Given the description of an element on the screen output the (x, y) to click on. 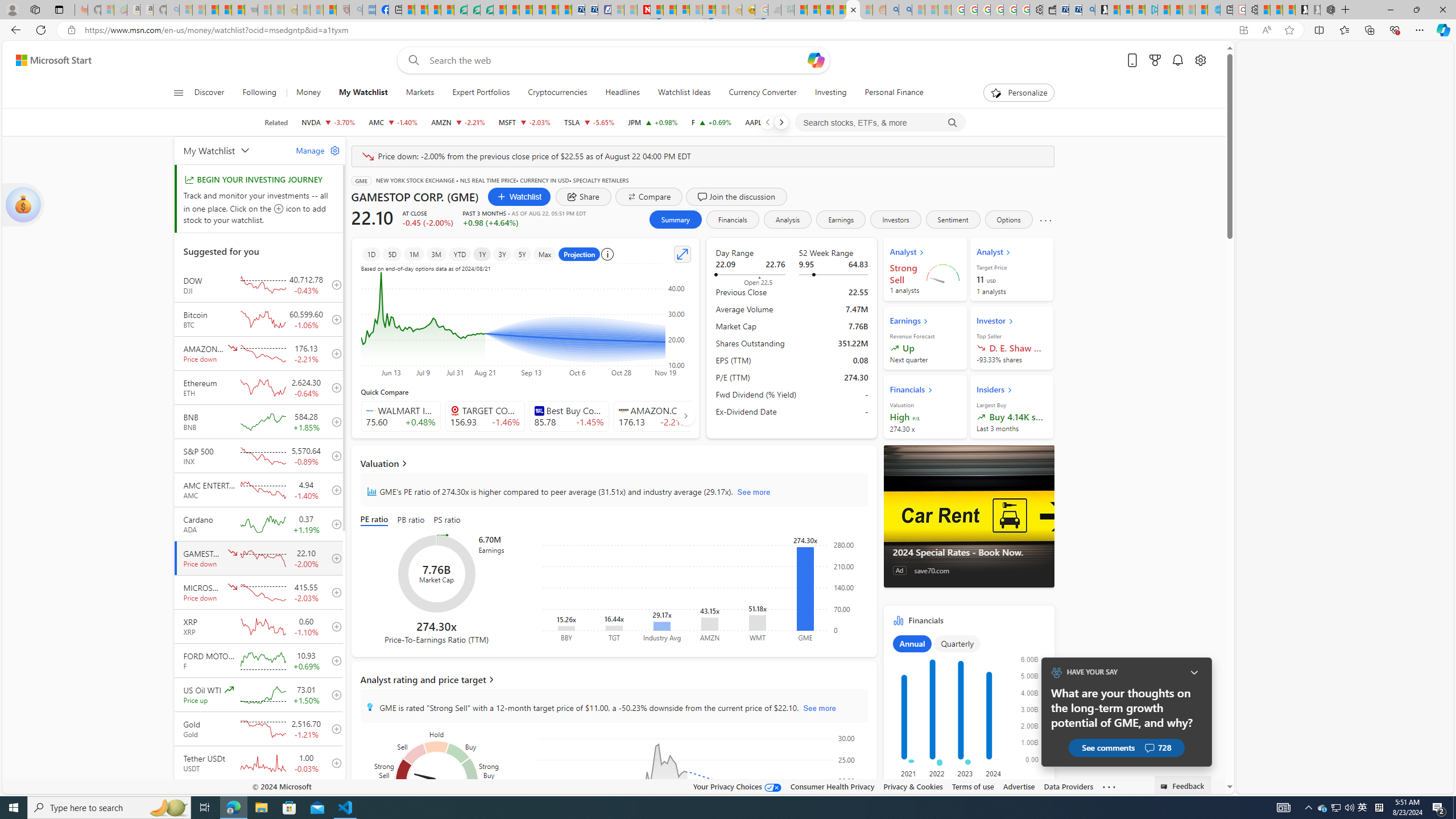
NVDA NVIDIA CORPORATION decrease 123.74 -4.76 -3.70% (328, 122)
Class: autoSuggestIcon-DS-EntryPoint1-2 (623, 410)
AutomationID: finance_carousel_navi_right (685, 415)
Currency Converter (762, 92)
Wallet (1049, 9)
